Given the description of an element on the screen output the (x, y) to click on. 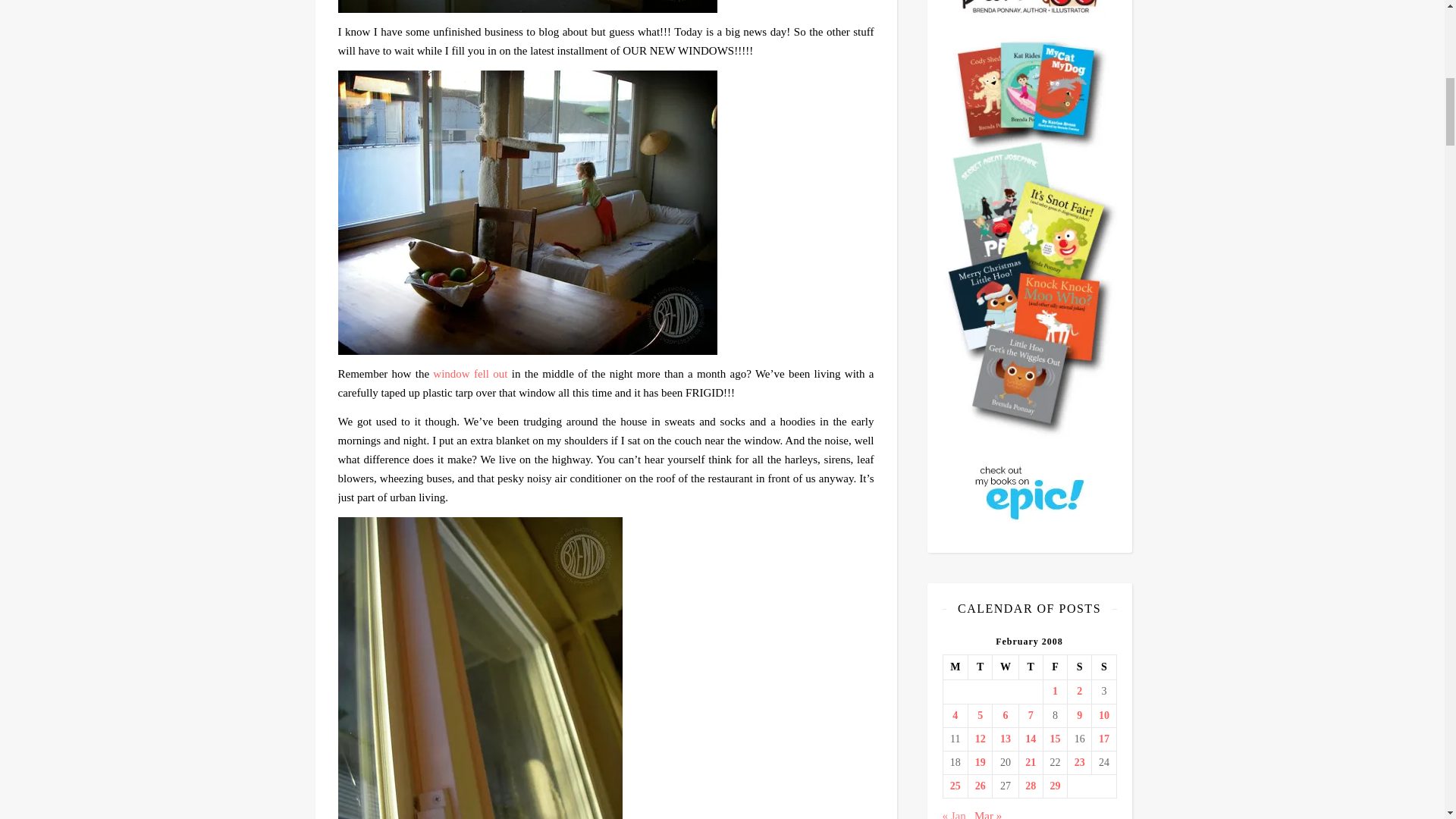
window fell out (469, 372)
Wednesday (1004, 667)
window guys by secret agent josephine, on Flickr (606, 6)
Monday (955, 667)
Tuesday (980, 667)
